Given the description of an element on the screen output the (x, y) to click on. 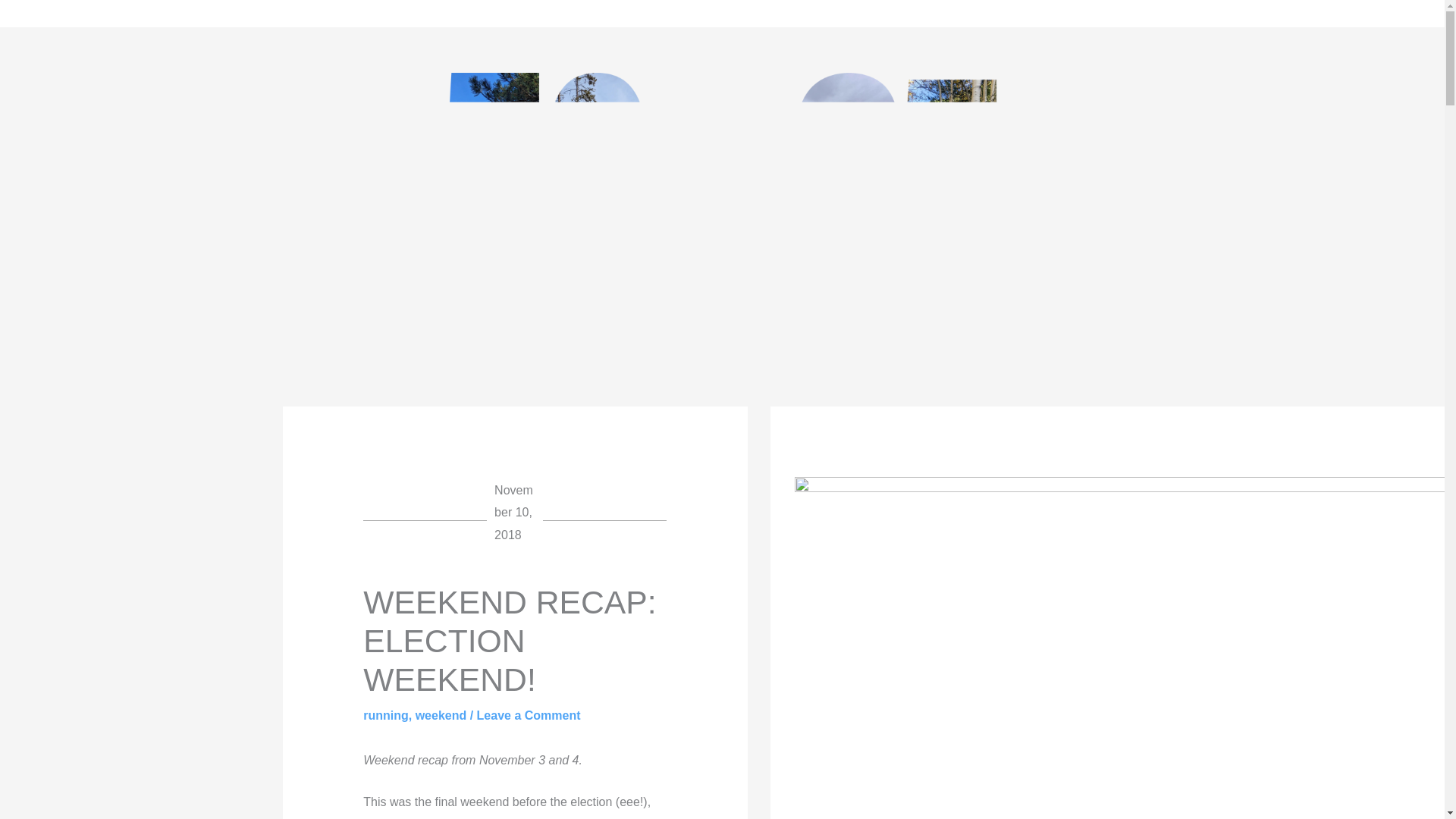
RACE REPORTS (544, 13)
MARATHON FAQ (389, 13)
HOME (52, 13)
running (385, 715)
ABOUT ME (144, 13)
TOP POSTS (257, 13)
CONTACT (676, 13)
weekend (440, 715)
Leave a Comment (528, 715)
